Given the description of an element on the screen output the (x, y) to click on. 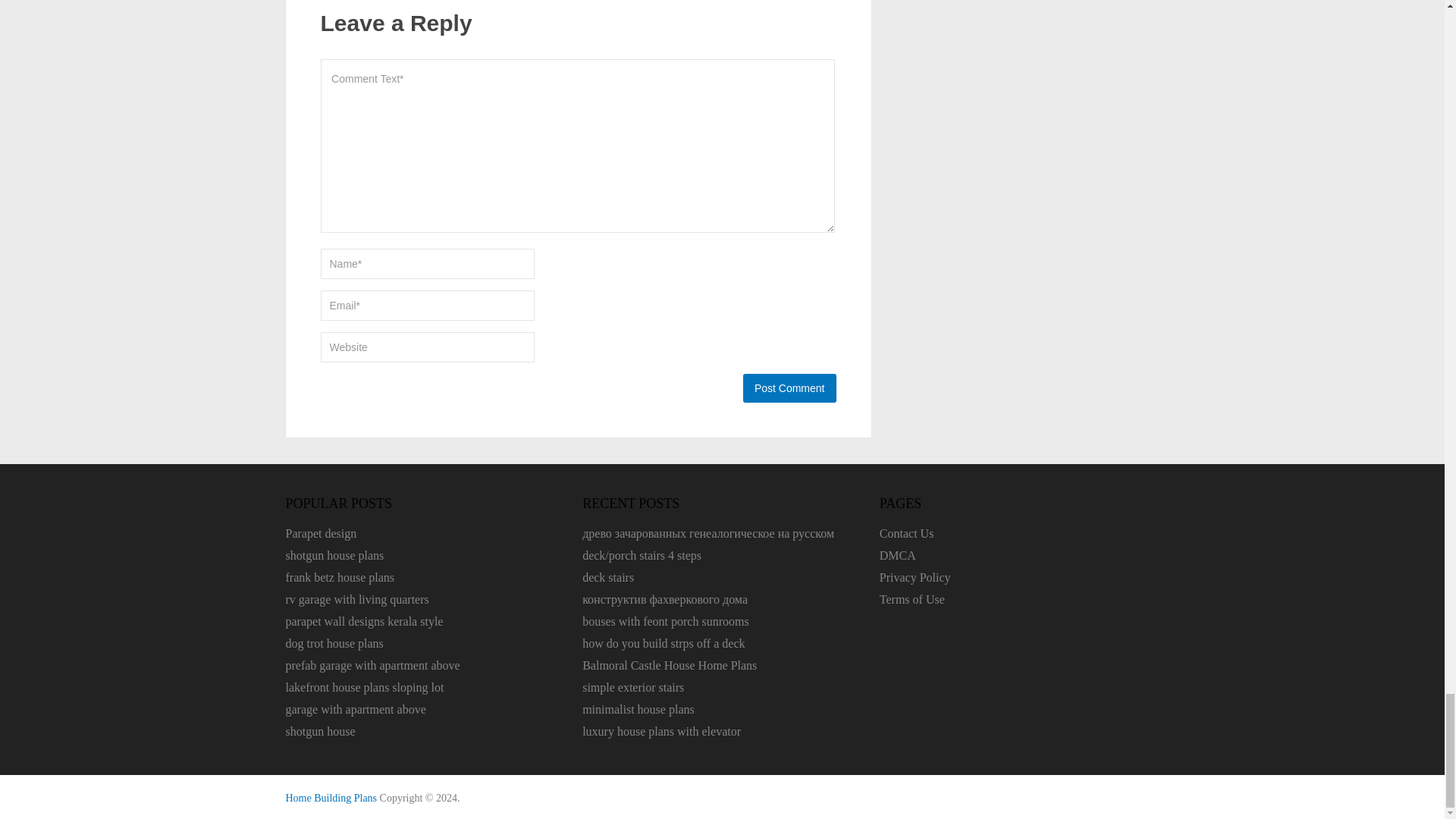
shotgun house plans (334, 554)
Post Comment (788, 387)
rv garage with living quarters (356, 599)
prefab garage with apartment above (372, 665)
parapet wall designs kerala style (363, 621)
Parapet design (320, 533)
Post Comment (788, 387)
frank betz house plans (339, 576)
dog trot house plans (333, 643)
